Given the description of an element on the screen output the (x, y) to click on. 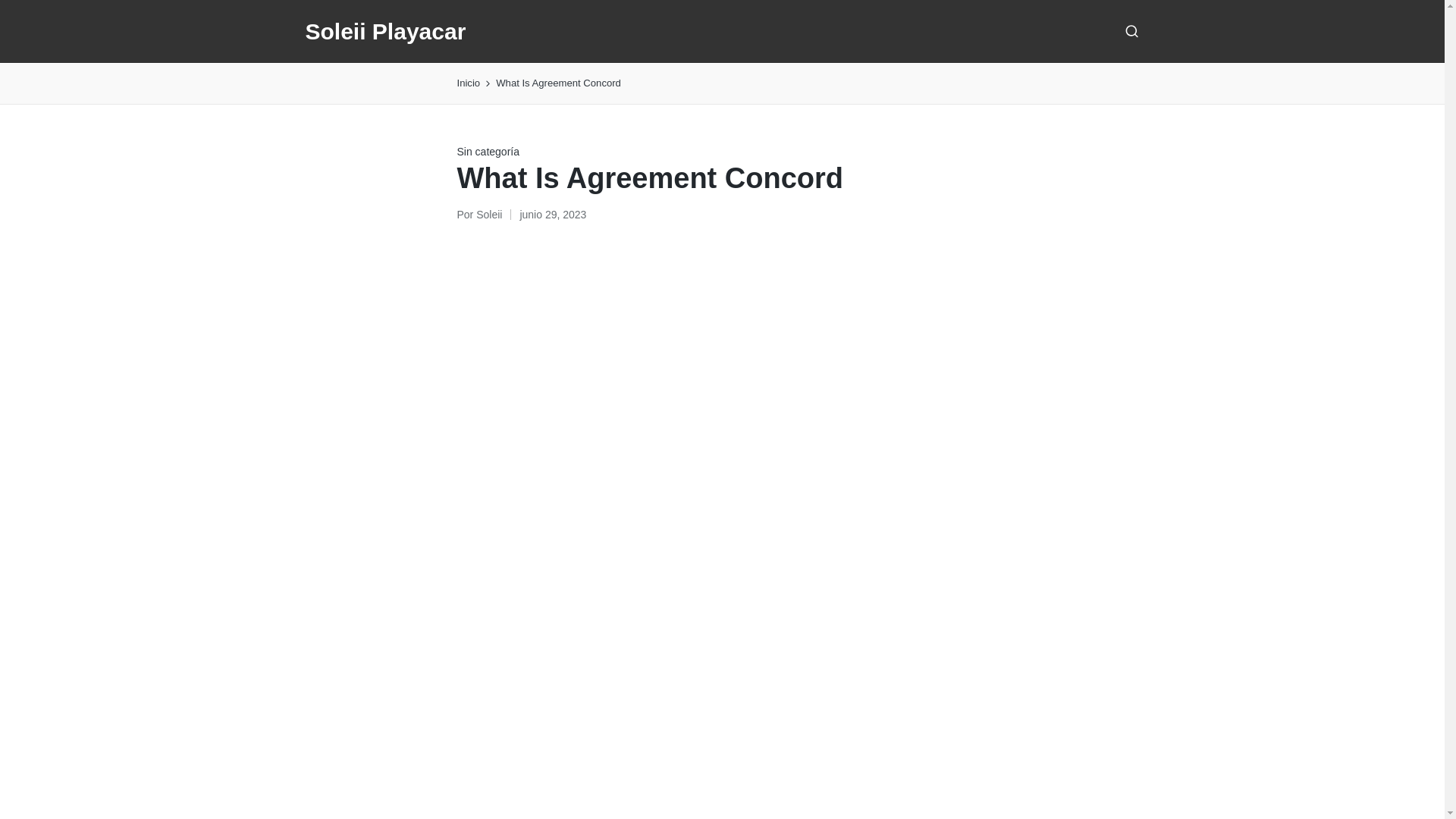
Soleii Playacar (384, 31)
Ver todas las entradas de Soleii (489, 214)
Soleii (489, 214)
Inicio (468, 83)
